Given the description of an element on the screen output the (x, y) to click on. 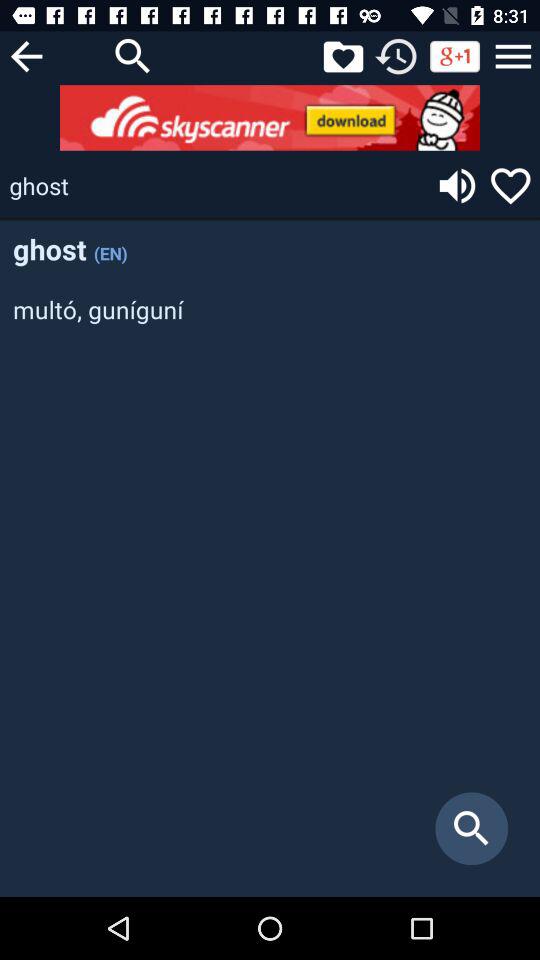
click advertisement (270, 117)
